Given the description of an element on the screen output the (x, y) to click on. 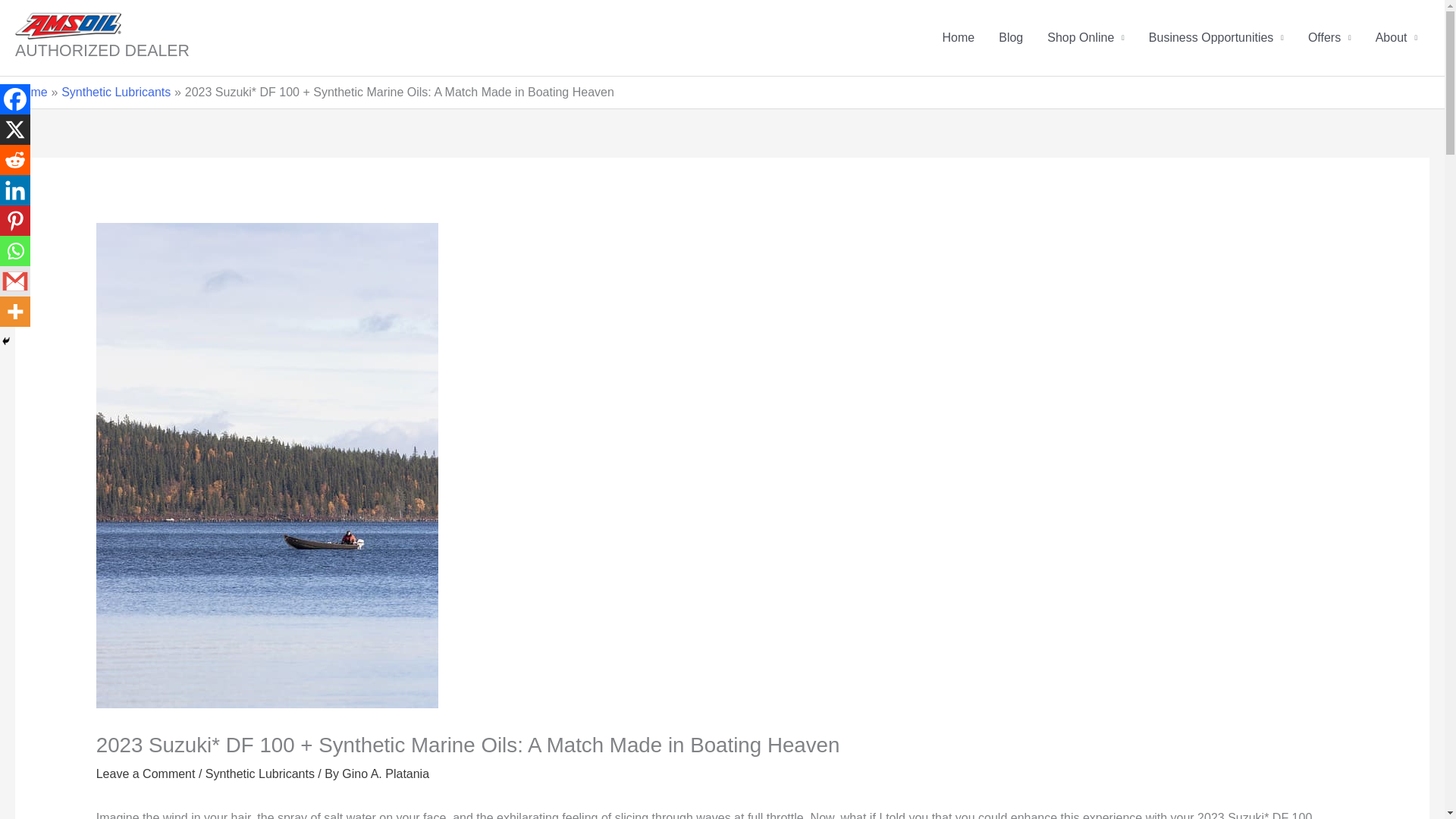
Offers (1328, 38)
Synthetic Lubricants (259, 773)
Reddit (15, 159)
Facebook (15, 99)
View all posts by Gino A. Platania (385, 773)
Business Opportunities (1216, 38)
X (15, 129)
Home (31, 91)
Gino A. Platania (385, 773)
Synthetic Lubricants (115, 91)
